Given the description of an element on the screen output the (x, y) to click on. 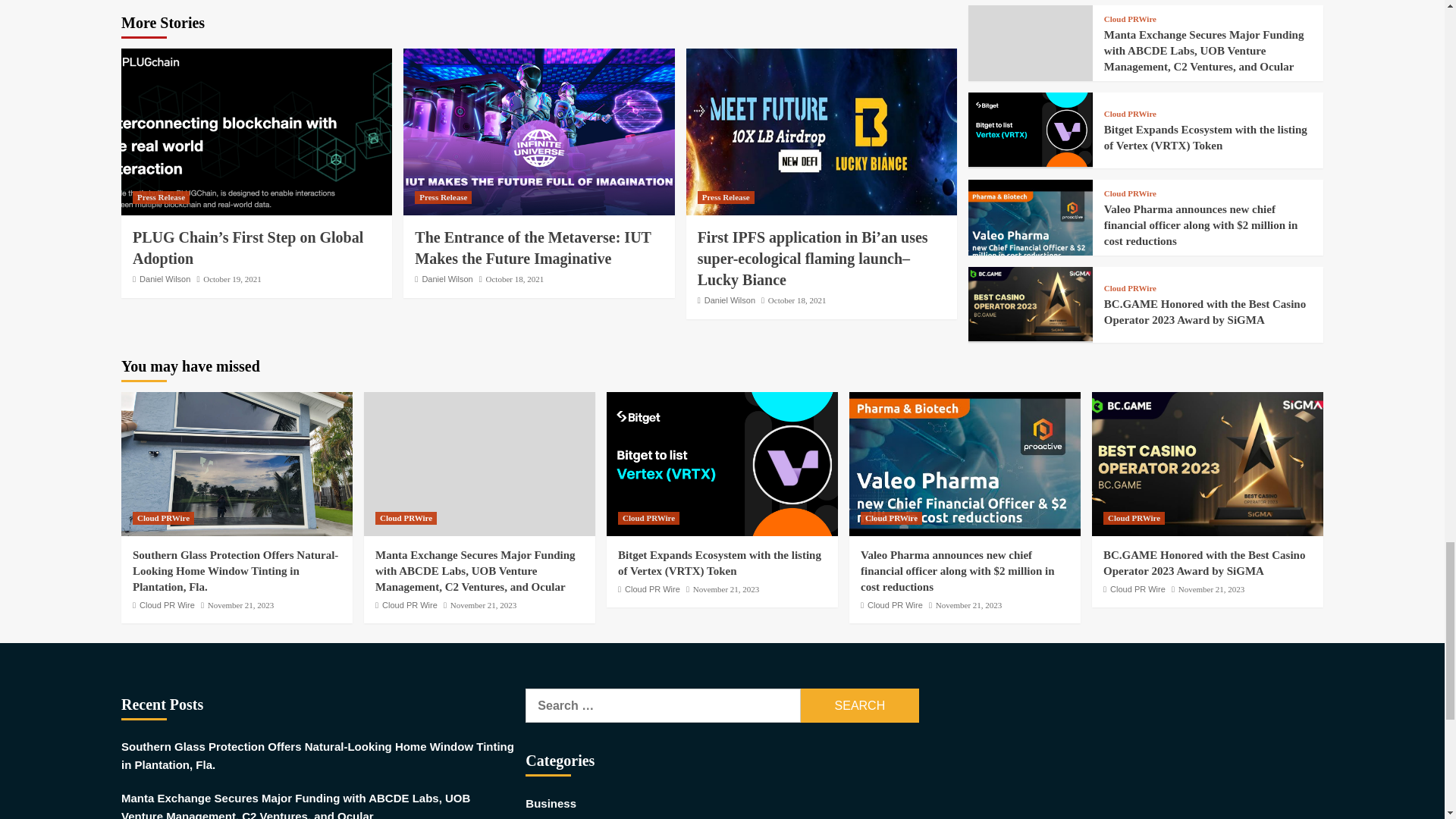
Press Release (160, 196)
Daniel Wilson (164, 278)
Press Release (442, 196)
Search (859, 705)
Search (859, 705)
Daniel Wilson (446, 278)
October 19, 2021 (232, 278)
October 18, 2021 (515, 278)
